Given the description of an element on the screen output the (x, y) to click on. 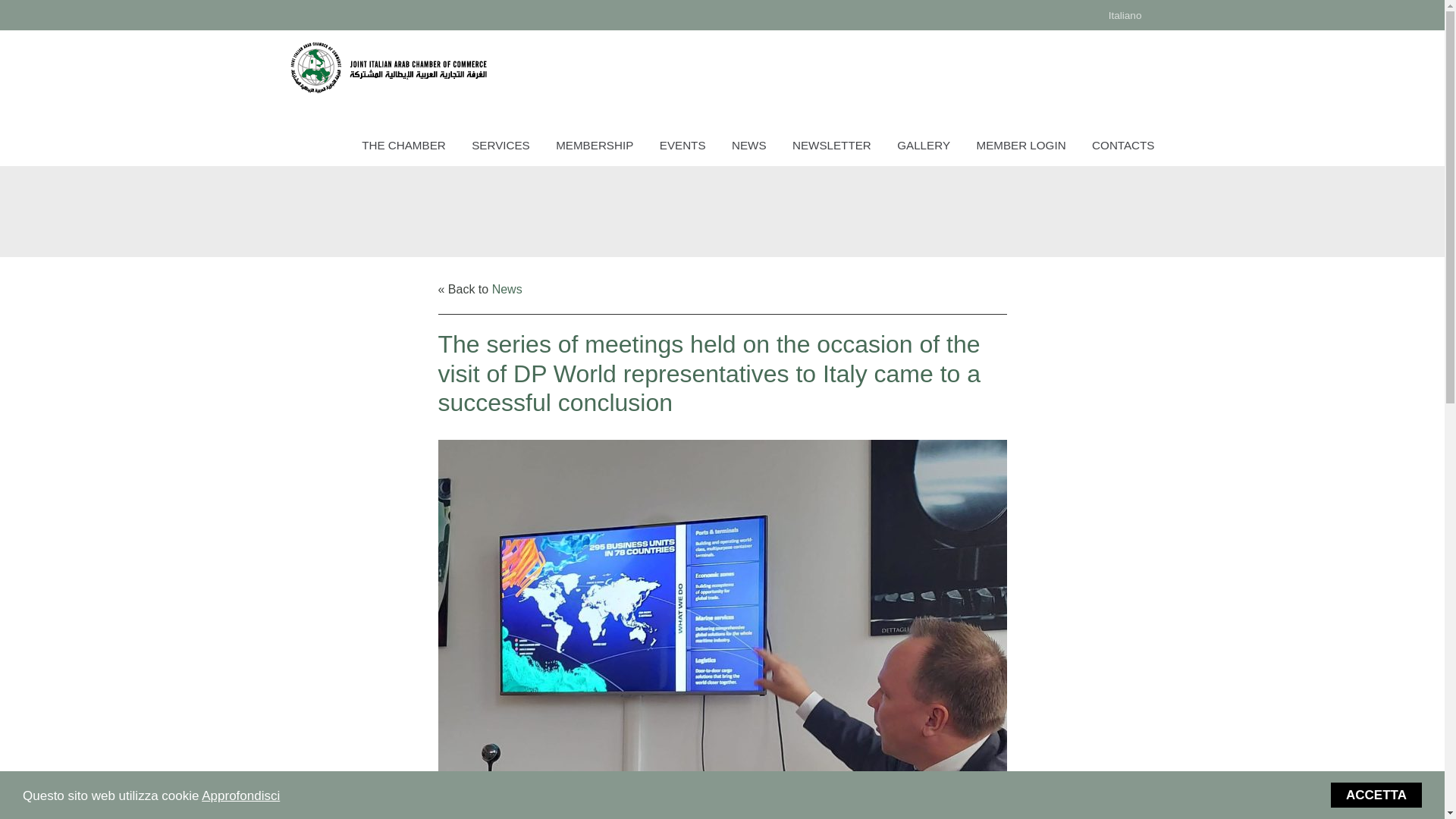
EVENTS (682, 146)
Italiano (1125, 14)
Joint Italian Arab Chamber (387, 67)
NEWS (749, 146)
THE CHAMBER (403, 146)
SERVICES (500, 146)
NEWSLETTER (831, 146)
MEMBERSHIP (594, 146)
